Given the description of an element on the screen output the (x, y) to click on. 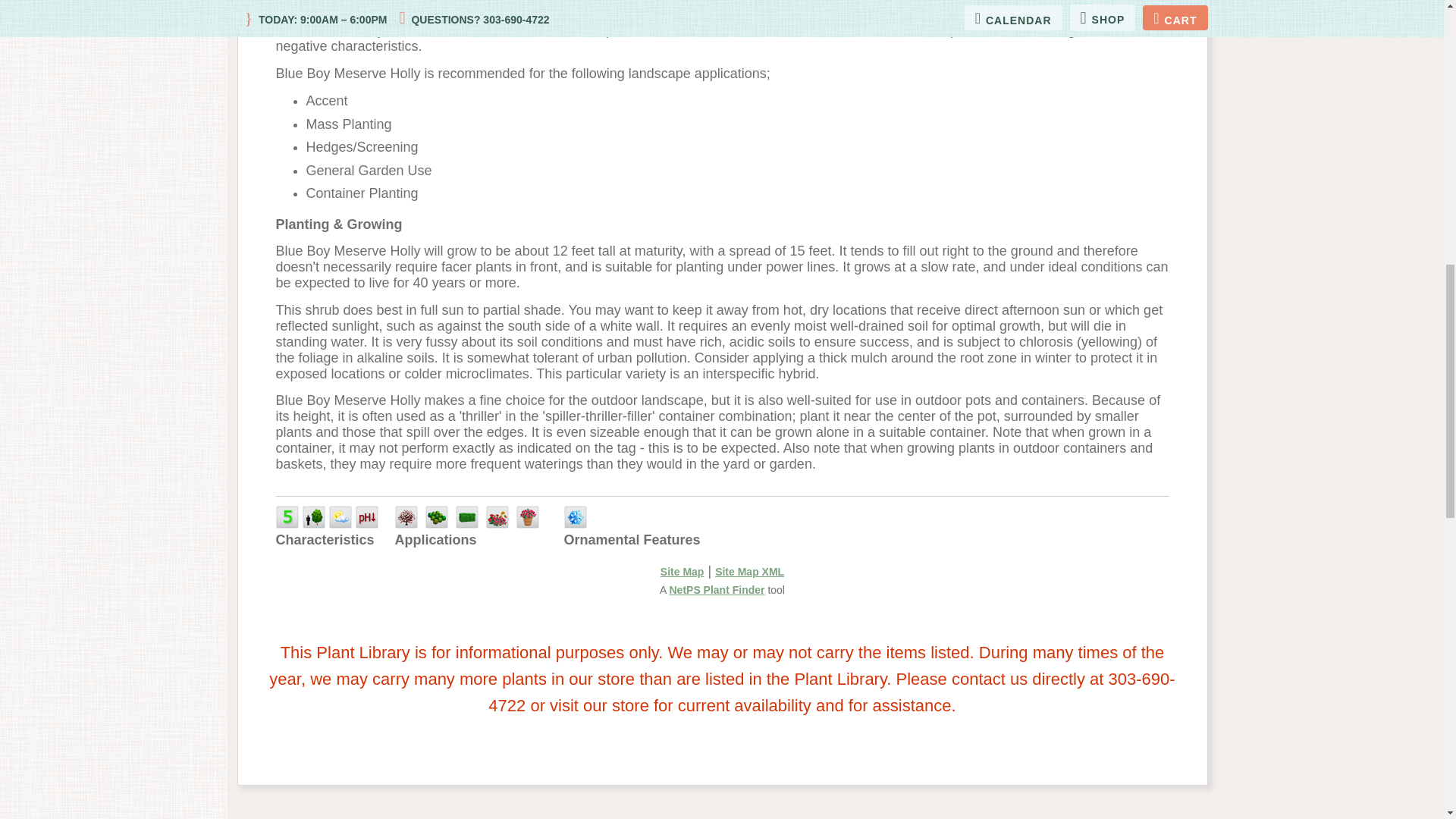
Winter Value (575, 517)
Plant Height (313, 517)
Container (527, 517)
Garden (497, 517)
Accent (405, 517)
Soil pH Preference (366, 517)
Screening (467, 517)
Hardiness Zone (287, 517)
Minimum Sunlight (340, 517)
Massing (436, 517)
